Given the description of an element on the screen output the (x, y) to click on. 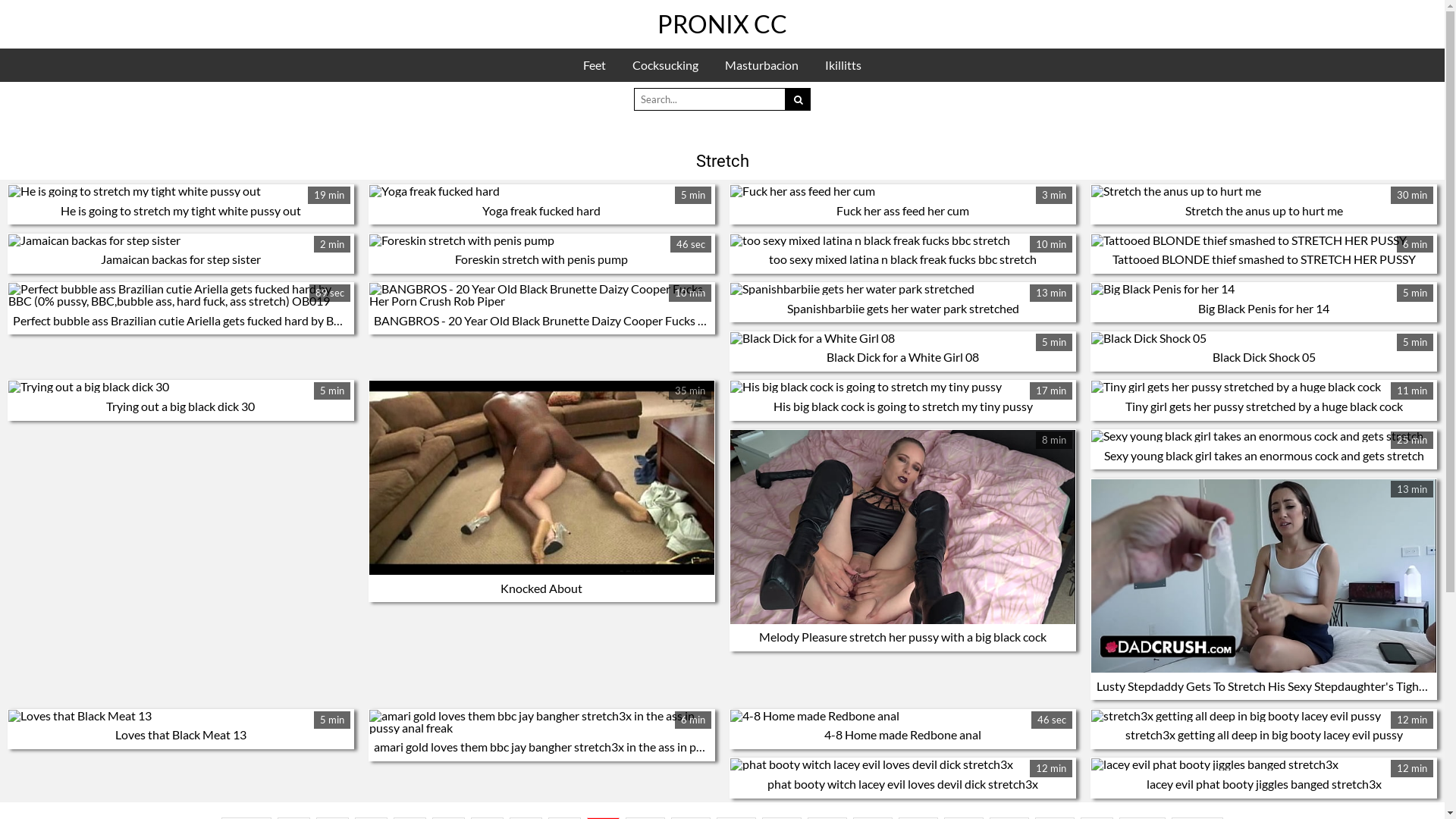
Foreskin stretch with penis pump Element type: hover (541, 240)
Big Black Penis for her  14 Element type: hover (1263, 288)
Fuck her ass feed her cum Element type: text (902, 210)
Jamaican backas for step sister Element type: hover (180, 240)
He is going to stretch my tight white pussy out Element type: text (180, 210)
Black Dick Shock 05 Element type: hover (1263, 338)
Foreskin stretch with penis pump Element type: text (541, 258)
phat booty witch lacey evil loves devil dick stretch3x Element type: text (902, 783)
Spanishbarbiie gets her water park stretched Element type: hover (902, 288)
stretch3x getting all deep in big booty lacey evil pussy Element type: hover (1263, 715)
Stretch the anus up to hurt me Element type: text (1264, 210)
Tattooed BLONDE thief smashed to STRETCH HER PUSSY Element type: hover (1263, 240)
4-8 Home made Redbone anal Element type: text (902, 734)
Tiny girl gets her pussy stretched by a huge black cock Element type: text (1263, 405)
His big black cock is going to stretch my tiny pussy Element type: hover (902, 386)
Yoga freak fucked hard Element type: hover (541, 191)
Trying out a big black dick 30 Element type: hover (180, 386)
Yoga freak fucked hard Element type: text (541, 210)
Melody Pleasure stretch her pussy with a big black cock Element type: hover (902, 526)
Jamaican backas for step sister Element type: text (180, 258)
Knocked About Element type: hover (541, 477)
Black Dick for a White Girl 08 Element type: hover (902, 338)
Trying out a big black dick 30 Element type: text (180, 405)
Spanishbarbiie gets her water park stretched Element type: text (903, 308)
Ikillitts Element type: text (842, 64)
4-8 Home made Redbone anal Element type: hover (902, 715)
Loves that Black Meat 13 Element type: hover (180, 715)
Melody Pleasure stretch her pussy with a big black cock Element type: text (902, 636)
He is going to stretch my tight white pussy out Element type: hover (180, 191)
Cocksucking Element type: text (665, 64)
His big black cock is going to stretch my tiny pussy Element type: text (902, 405)
Masturbacion Element type: text (761, 64)
Big Black Penis for her 14 Element type: text (1263, 308)
Black Dick for a White Girl 08 Element type: text (902, 356)
Fuck her ass feed her cum Element type: hover (902, 191)
too sexy mixed latina n black freak fucks bbc stretch Element type: hover (902, 240)
Tattooed BLONDE thief smashed to STRETCH HER PUSSY Element type: text (1263, 258)
Tiny girl gets her pussy stretched by a huge black cock Element type: hover (1263, 386)
Feet Element type: text (594, 64)
Stretch the anus up to hurt me Element type: hover (1263, 191)
too sexy mixed latina n black freak fucks bbc stretch Element type: text (902, 258)
Knocked About Element type: text (541, 587)
Black Dick Shock 05 Element type: text (1263, 356)
lacey evil phat booty jiggles banged stretch3x Element type: hover (1263, 764)
Loves that Black Meat 13 Element type: text (180, 734)
stretch3x getting all deep in big booty lacey evil pussy Element type: text (1263, 734)
PRONIX CC Element type: text (722, 24)
lacey evil phat booty jiggles banged stretch3x Element type: text (1263, 783)
phat booty witch lacey evil loves devil dick stretch3x Element type: hover (902, 764)
